Given the description of an element on the screen output the (x, y) to click on. 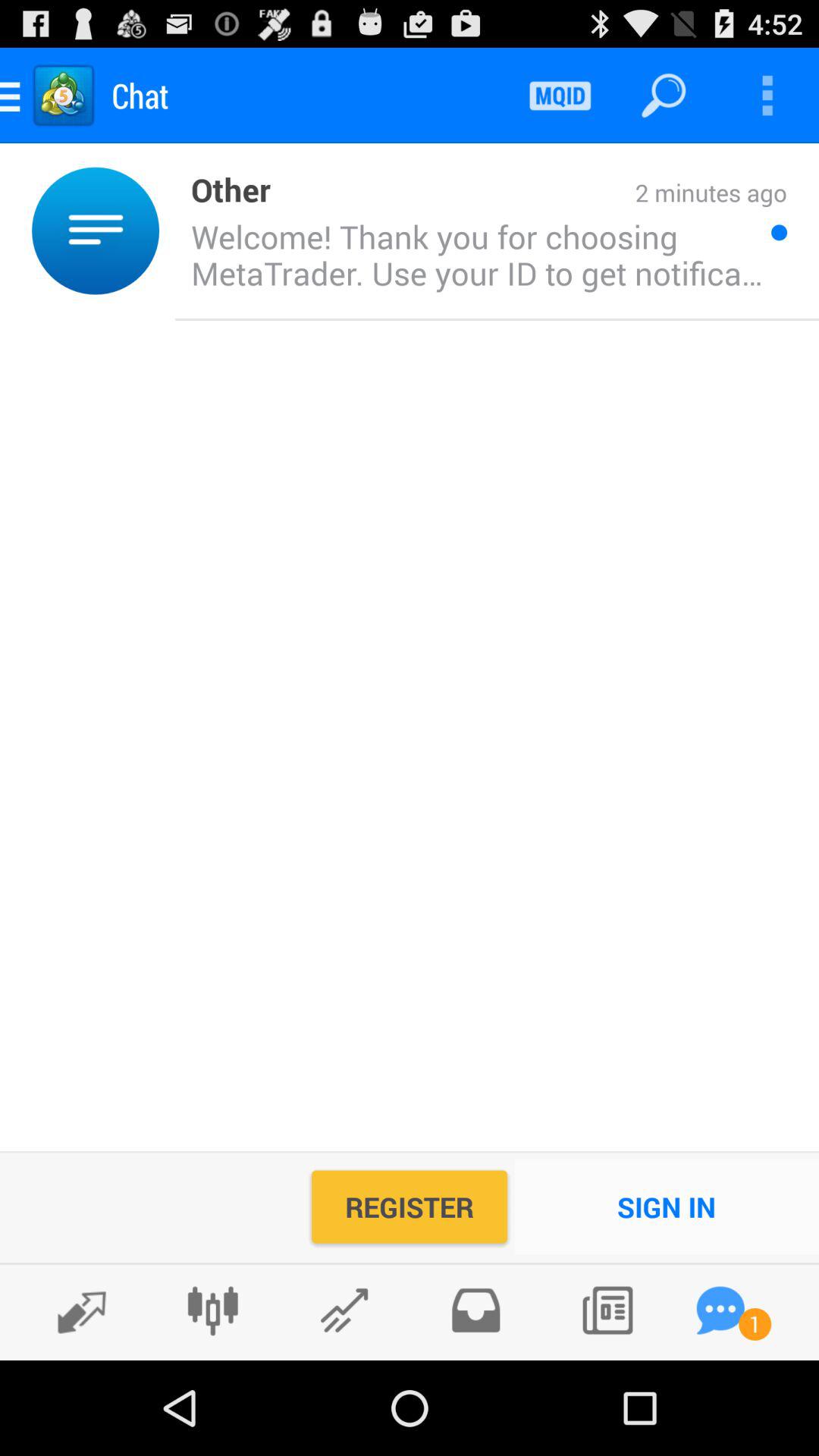
launch the 2 minutes ago icon (528, 194)
